Given the description of an element on the screen output the (x, y) to click on. 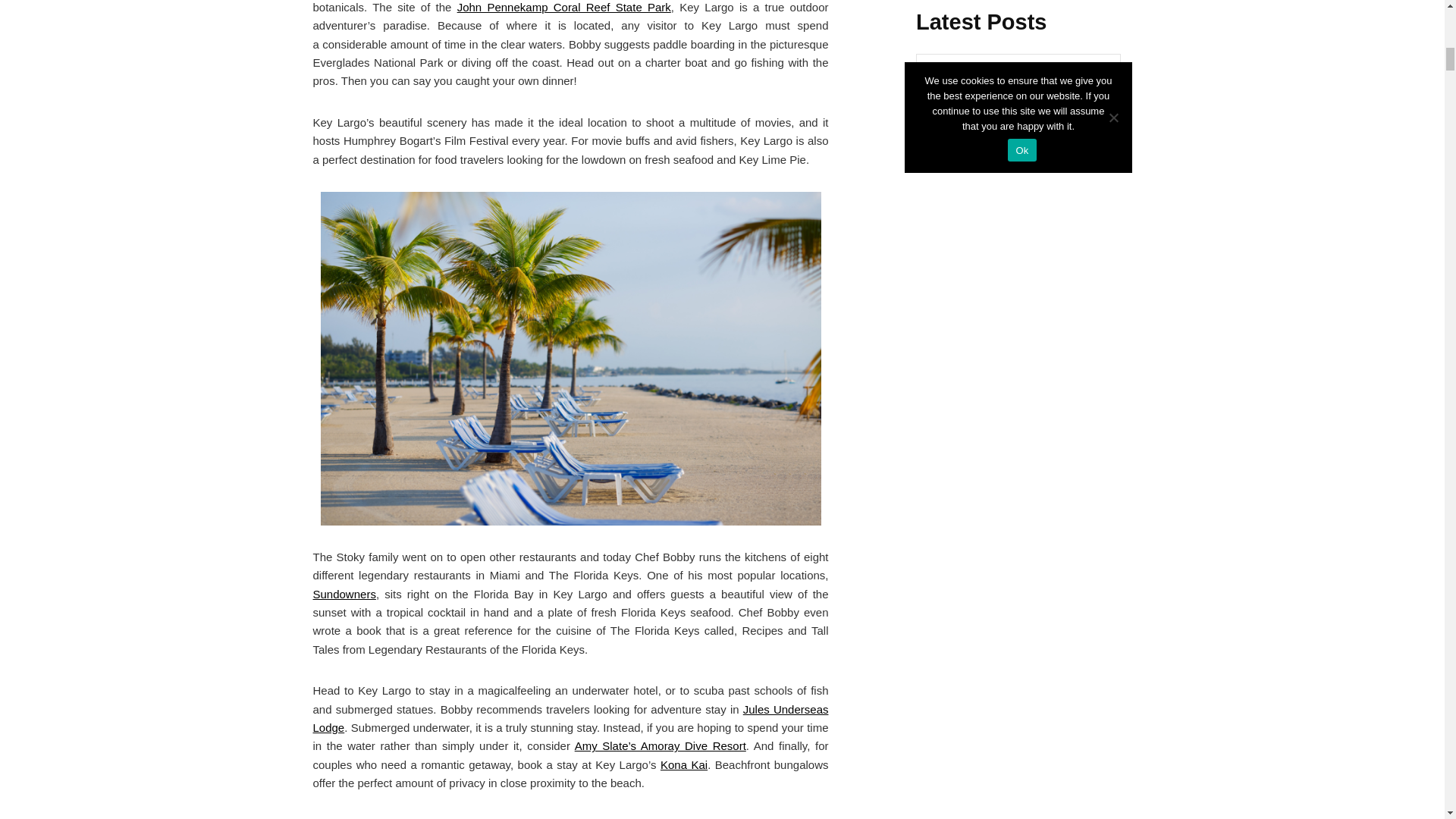
Sundowners (344, 594)
Kona Kai (684, 764)
Jules Underseas Lodge (570, 717)
John Pennekamp Coral Reef State Park (564, 6)
